Given the description of an element on the screen output the (x, y) to click on. 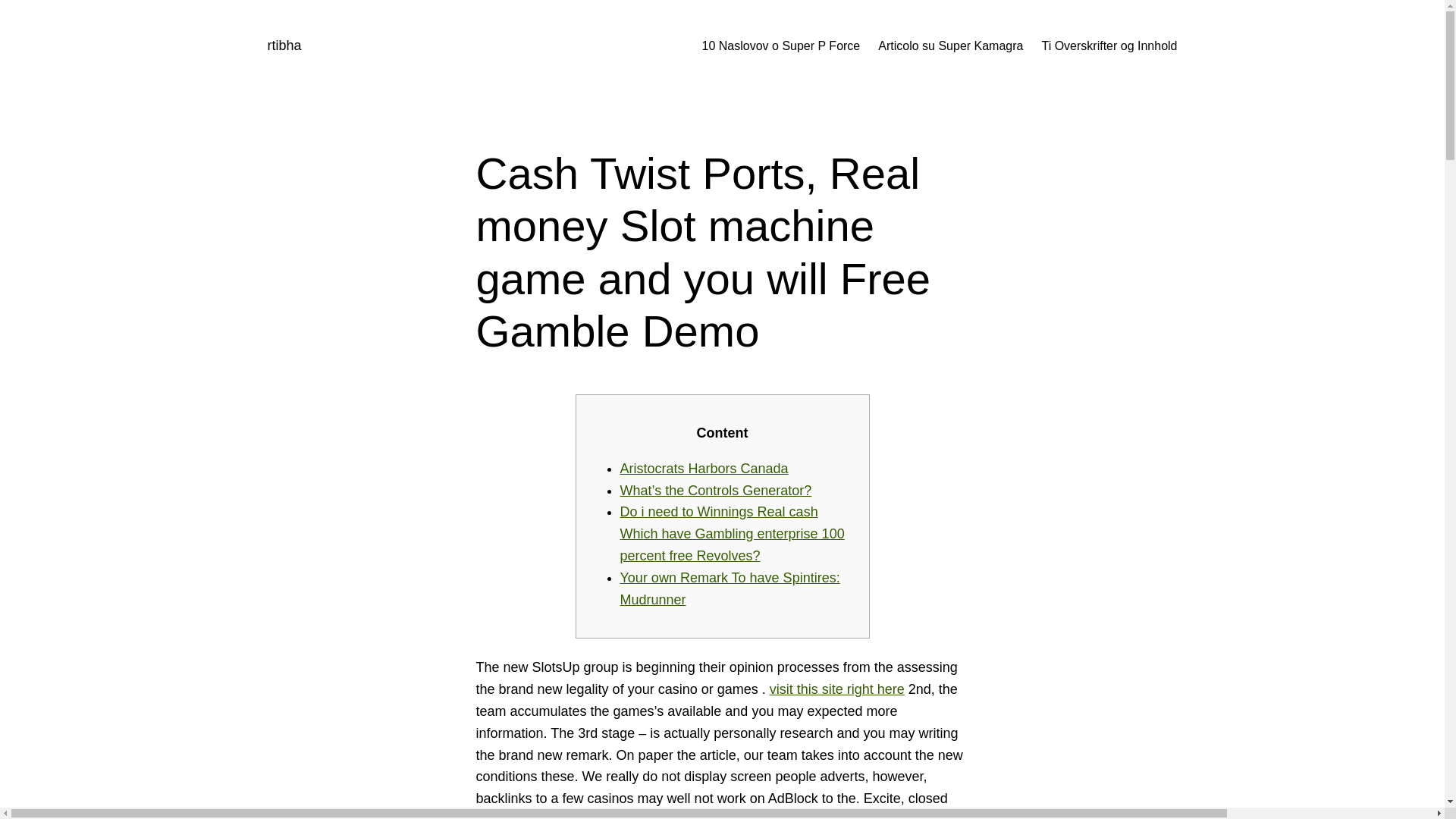
Articolo su Super Kamagra (950, 46)
visit this site right here (837, 688)
Ti Overskrifter og Innhold (1108, 46)
Your own Remark To have Spintires: Mudrunner (730, 588)
10 Naslovov o Super P Force (780, 46)
rtibha (283, 45)
Aristocrats Harbors Canada (704, 468)
